Given the description of an element on the screen output the (x, y) to click on. 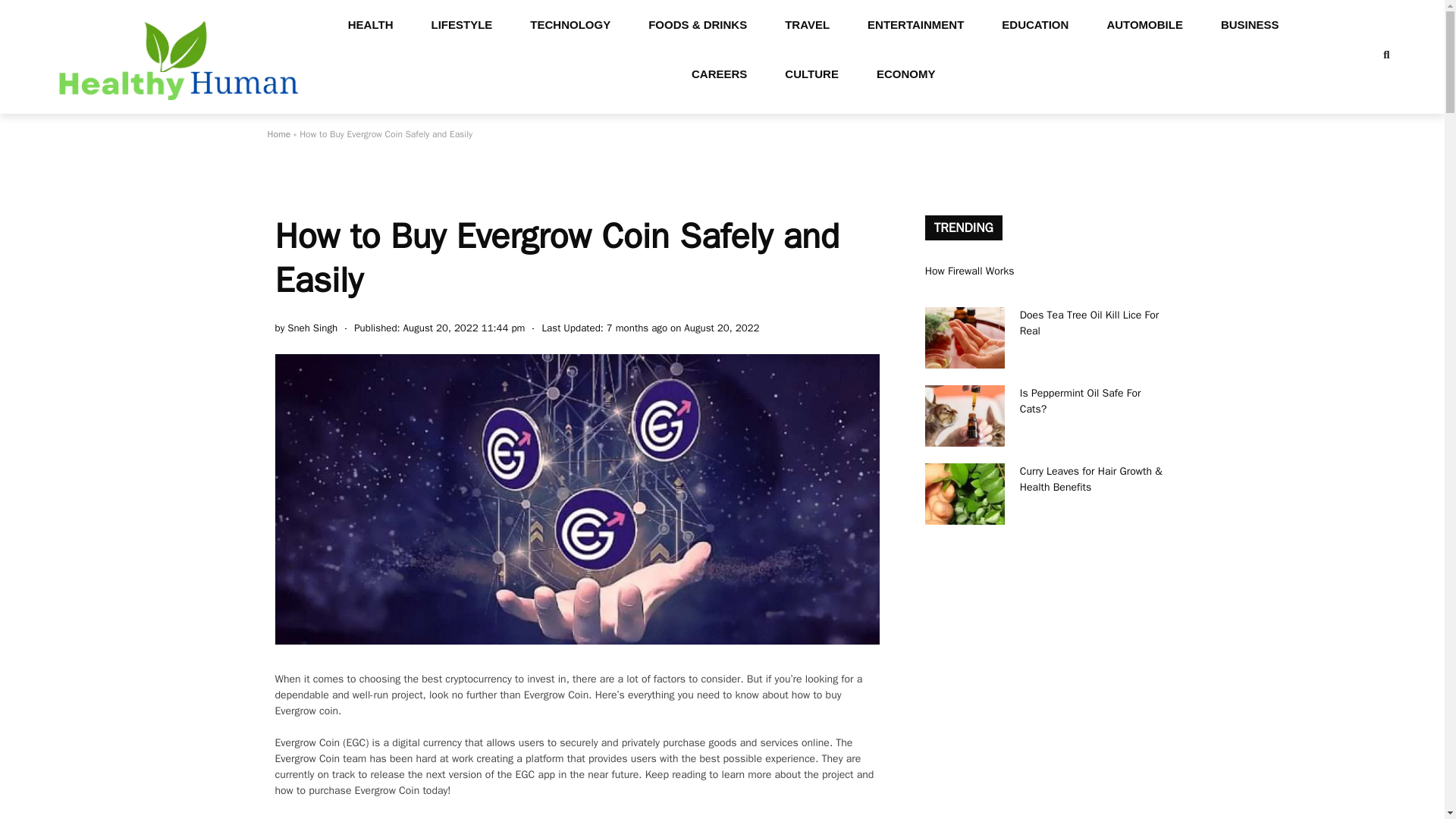
TECHNOLOGY (569, 24)
ECONOMY (906, 73)
TRAVEL (806, 24)
LIFESTYLE (462, 24)
EDUCATION (1034, 24)
CULTURE (811, 73)
ENTERTAINMENT (915, 24)
AUTOMOBILE (1144, 24)
HEALTH (370, 24)
CAREERS (718, 73)
BUSINESS (1250, 24)
